Given the description of an element on the screen output the (x, y) to click on. 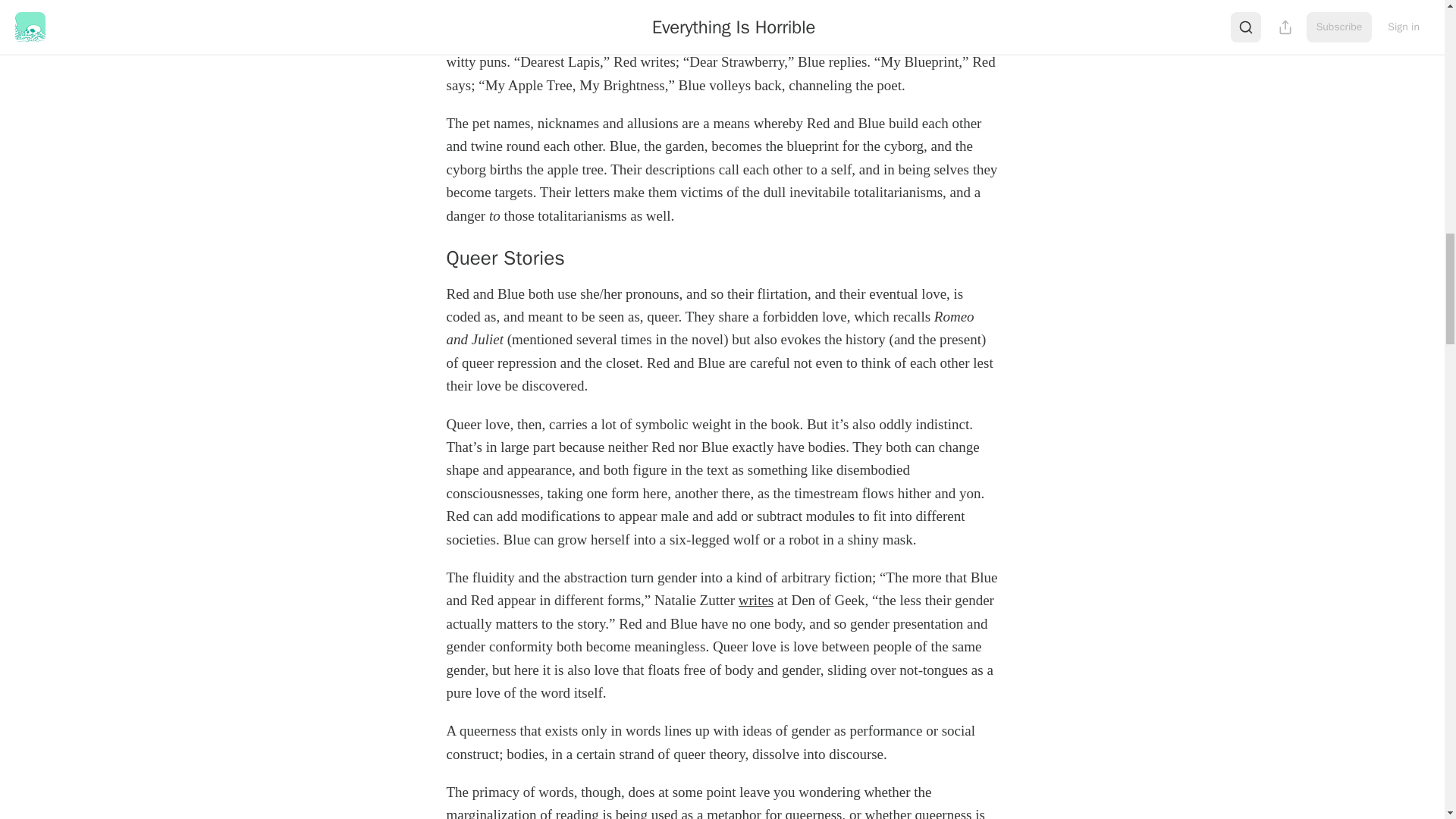
writes (755, 600)
